Given the description of an element on the screen output the (x, y) to click on. 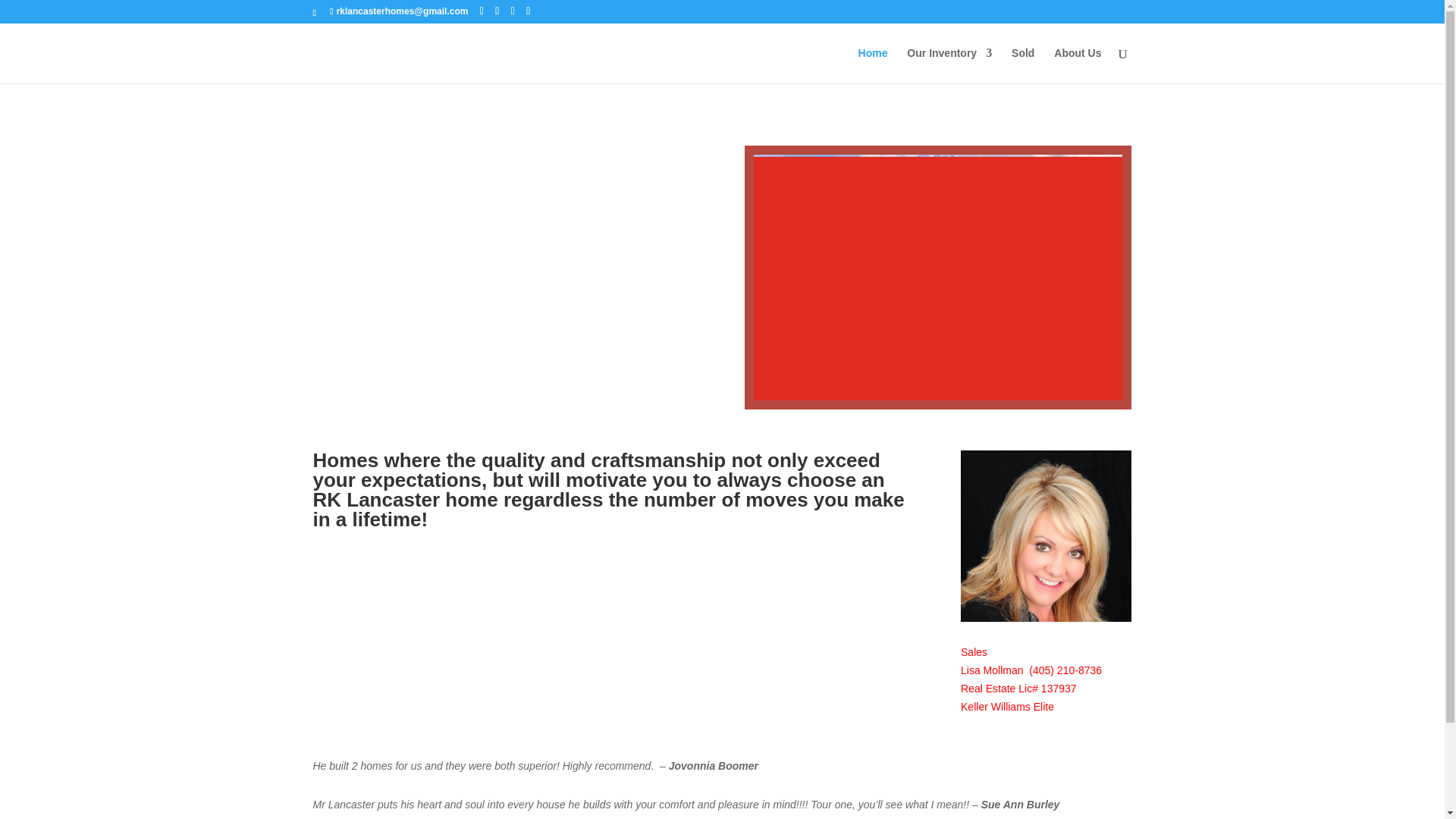
About Us (1077, 65)
Our Inventory (949, 65)
